Given the description of an element on the screen output the (x, y) to click on. 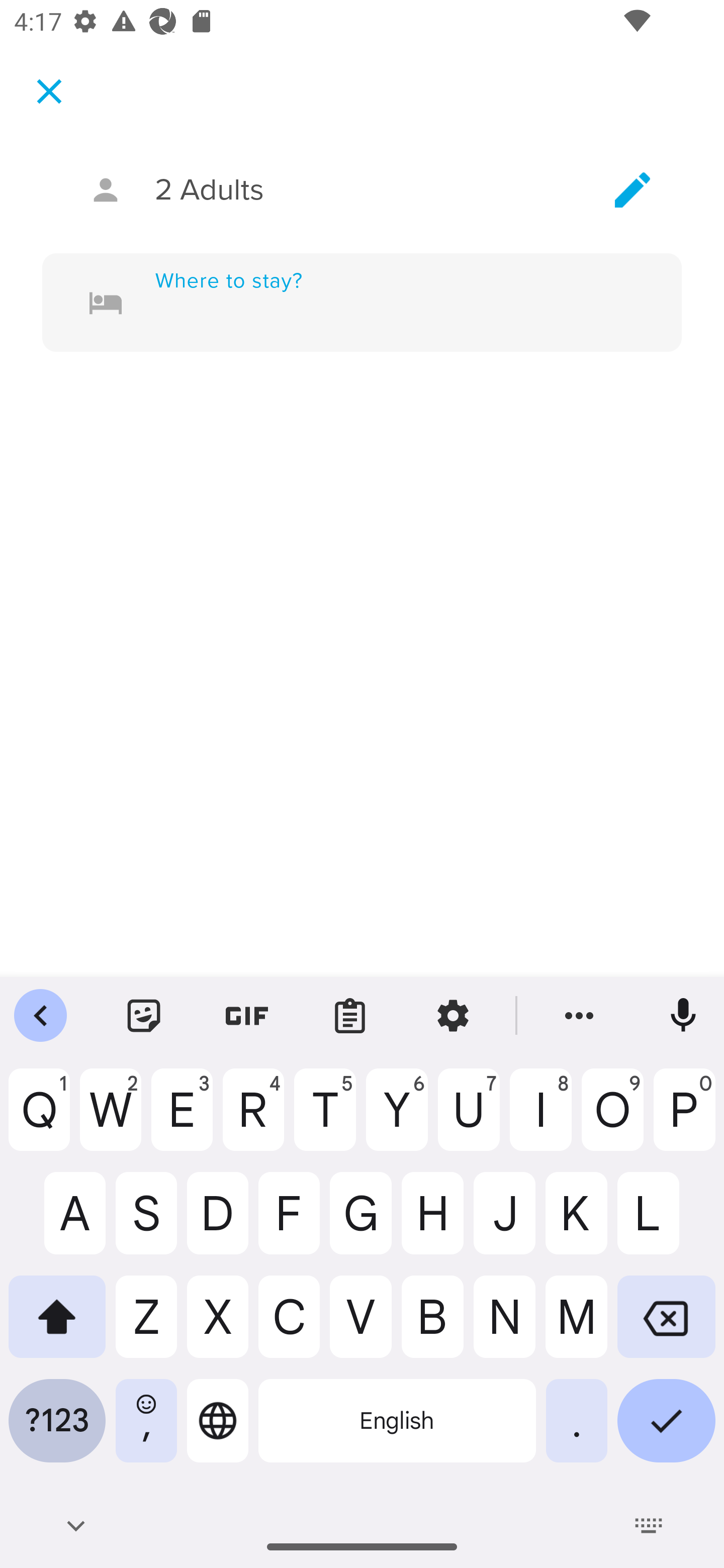
Navigate up (49, 91)
2 Adults (361, 190)
Where to stay? (389, 302)
